Given the description of an element on the screen output the (x, y) to click on. 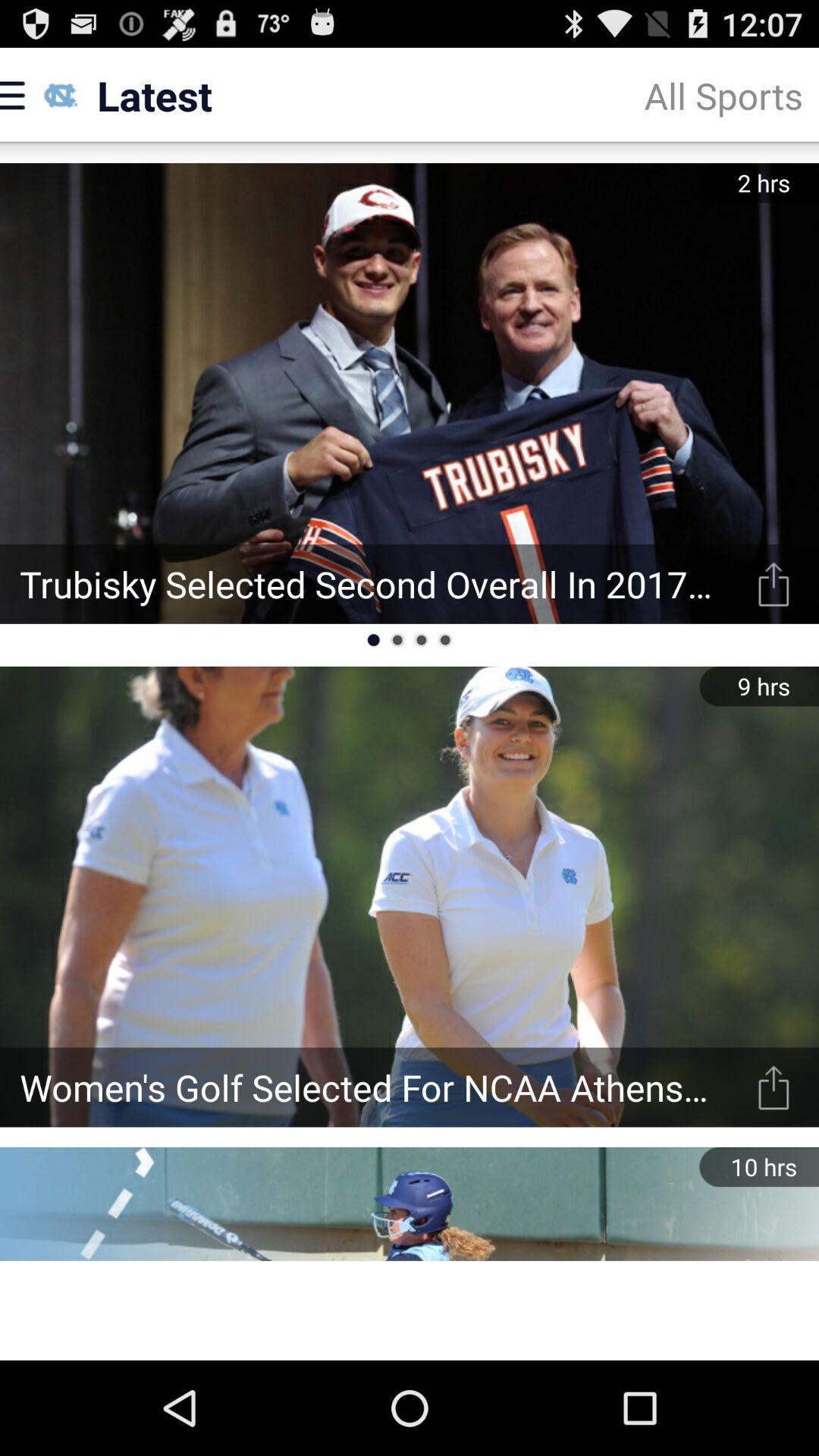
share the content (773, 583)
